Given the description of an element on the screen output the (x, y) to click on. 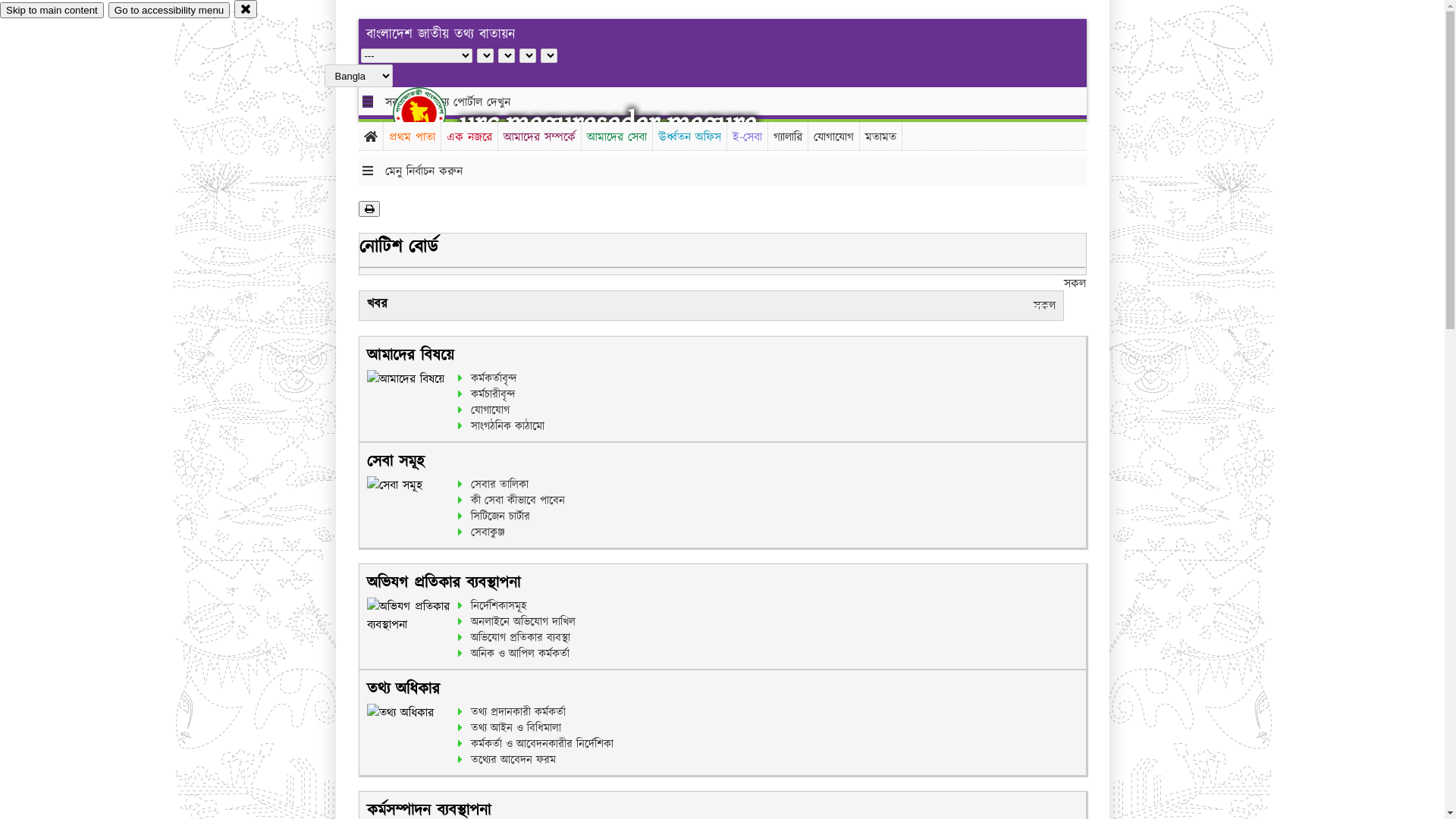
close Element type: hover (245, 9)
Go to accessibility menu Element type: text (168, 10)

                
             Element type: hover (431, 112)
Skip to main content Element type: text (51, 10)
urc.magurasadar.magura Element type: text (607, 123)
